Given the description of an element on the screen output the (x, y) to click on. 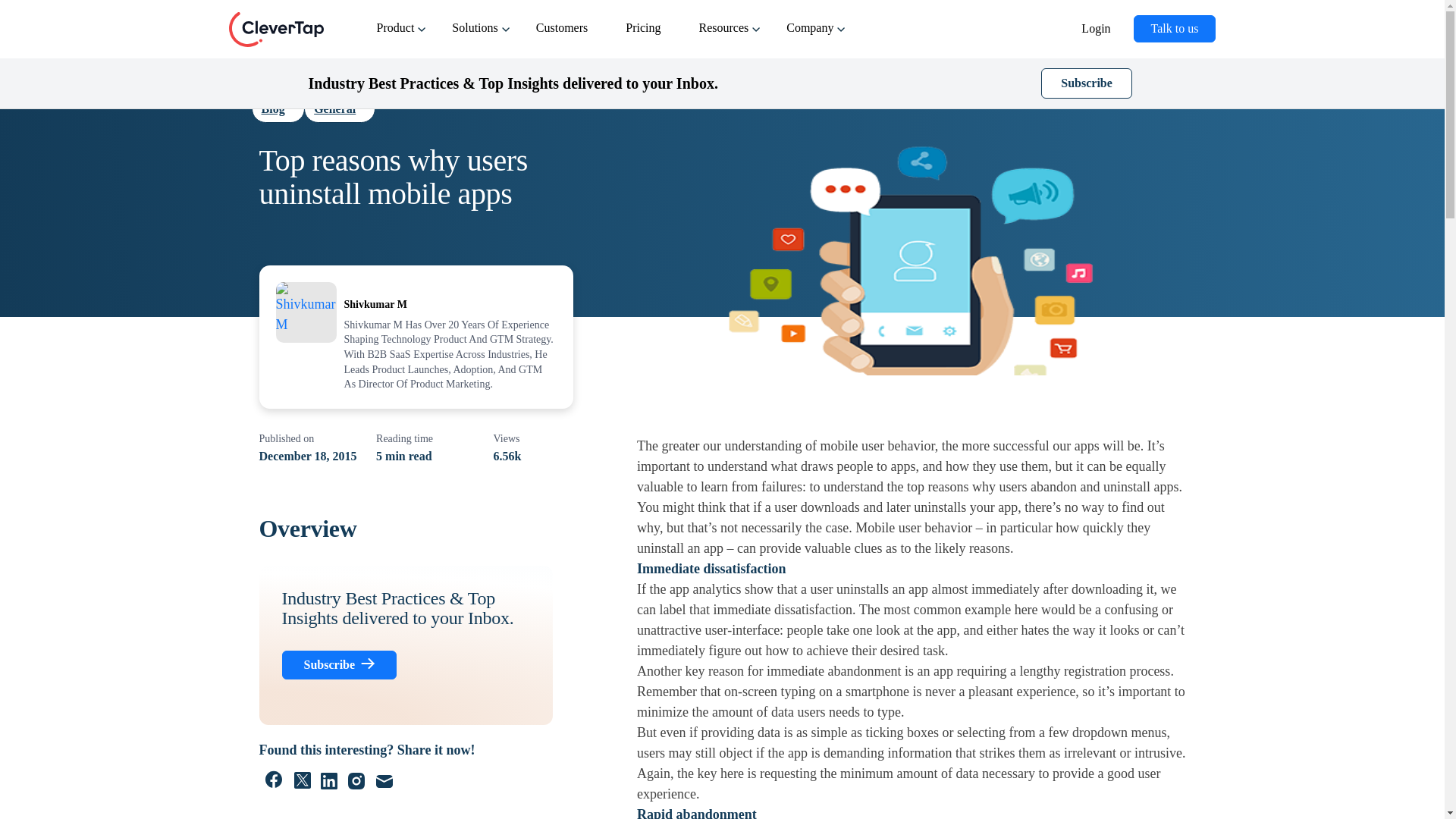
Talk to us (1174, 28)
Company (813, 37)
Pricing (646, 37)
Resources (726, 37)
Solutions (477, 37)
Product (399, 37)
Login (1098, 37)
Customers (565, 37)
CleverTap (275, 29)
